Given the description of an element on the screen output the (x, y) to click on. 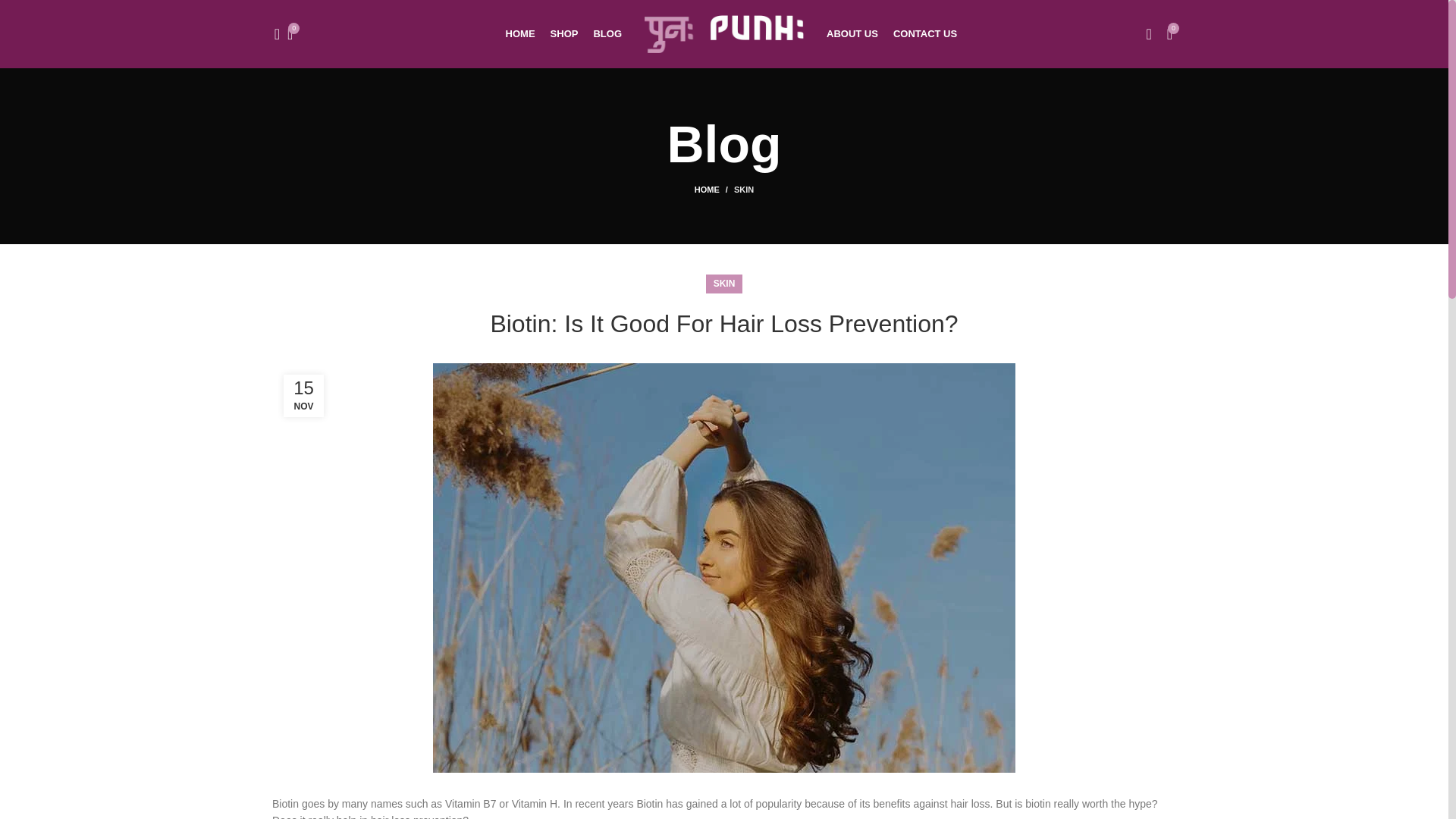
HOME (713, 189)
SKIN (743, 189)
SKIN (724, 283)
HOME (520, 33)
CONTACT US (924, 33)
ABOUT US (852, 33)
BLOG (606, 33)
SHOP (564, 33)
